Given the description of an element on the screen output the (x, y) to click on. 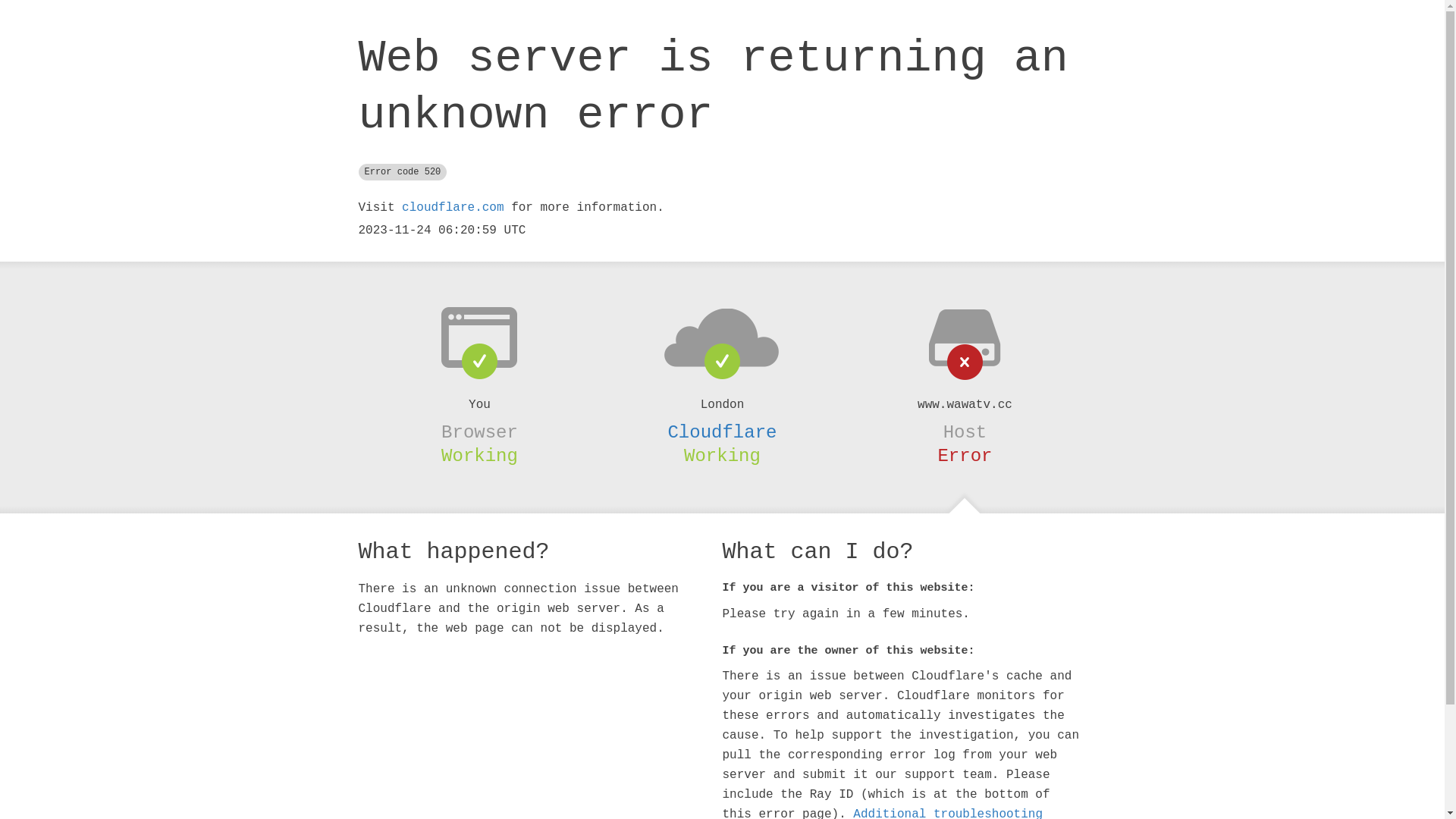
Cloudflare Element type: text (721, 432)
cloudflare.com Element type: text (452, 207)
